Given the description of an element on the screen output the (x, y) to click on. 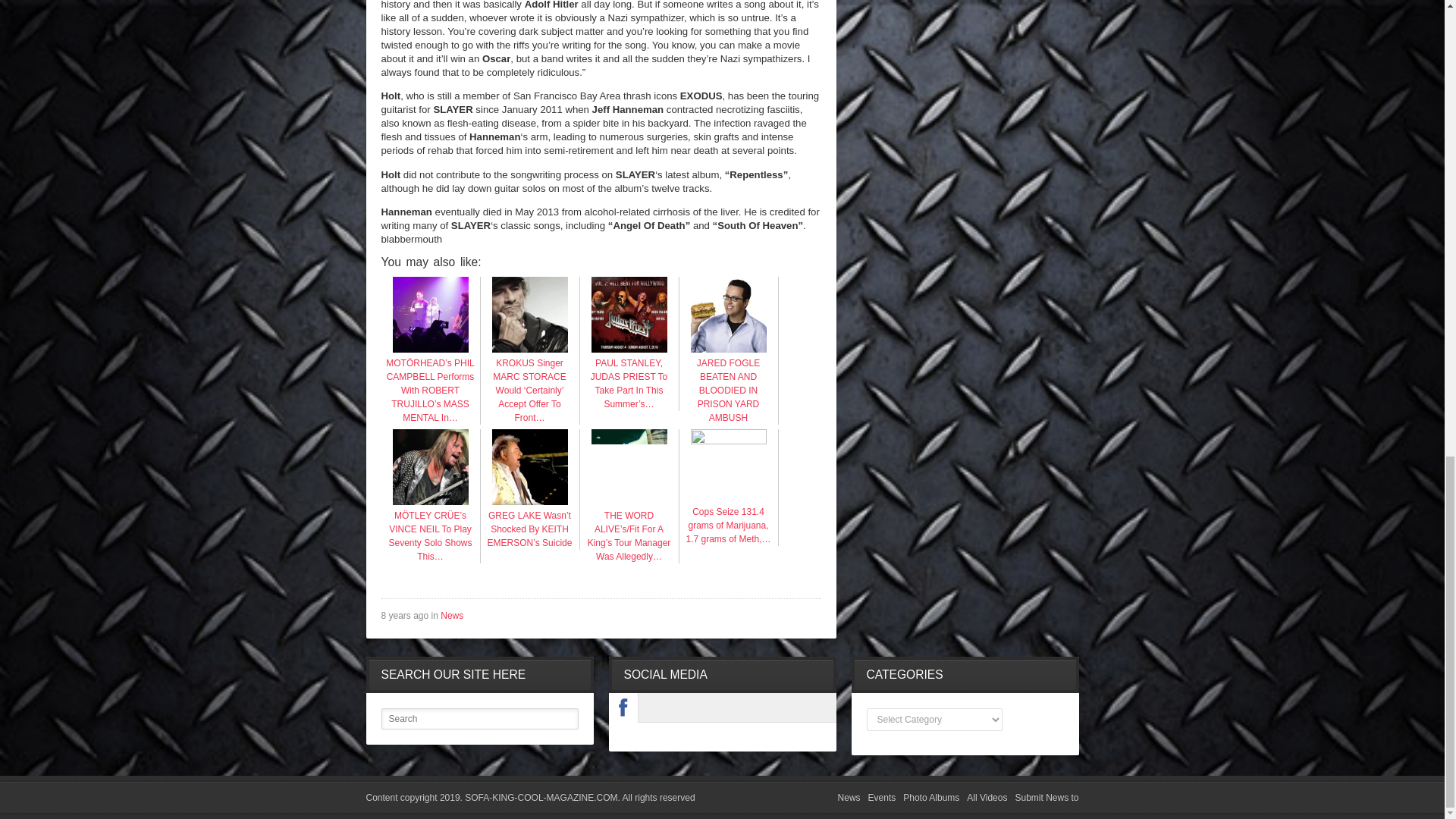
Events (881, 797)
Submit News to (1046, 797)
All Videos (986, 797)
News (452, 615)
JARED FOGLE BEATEN AND BLOODIED IN PRISON YARD AMBUSH (727, 383)
Search (479, 718)
Facebook (622, 707)
Photo Albums (930, 797)
News (849, 797)
